Given the description of an element on the screen output the (x, y) to click on. 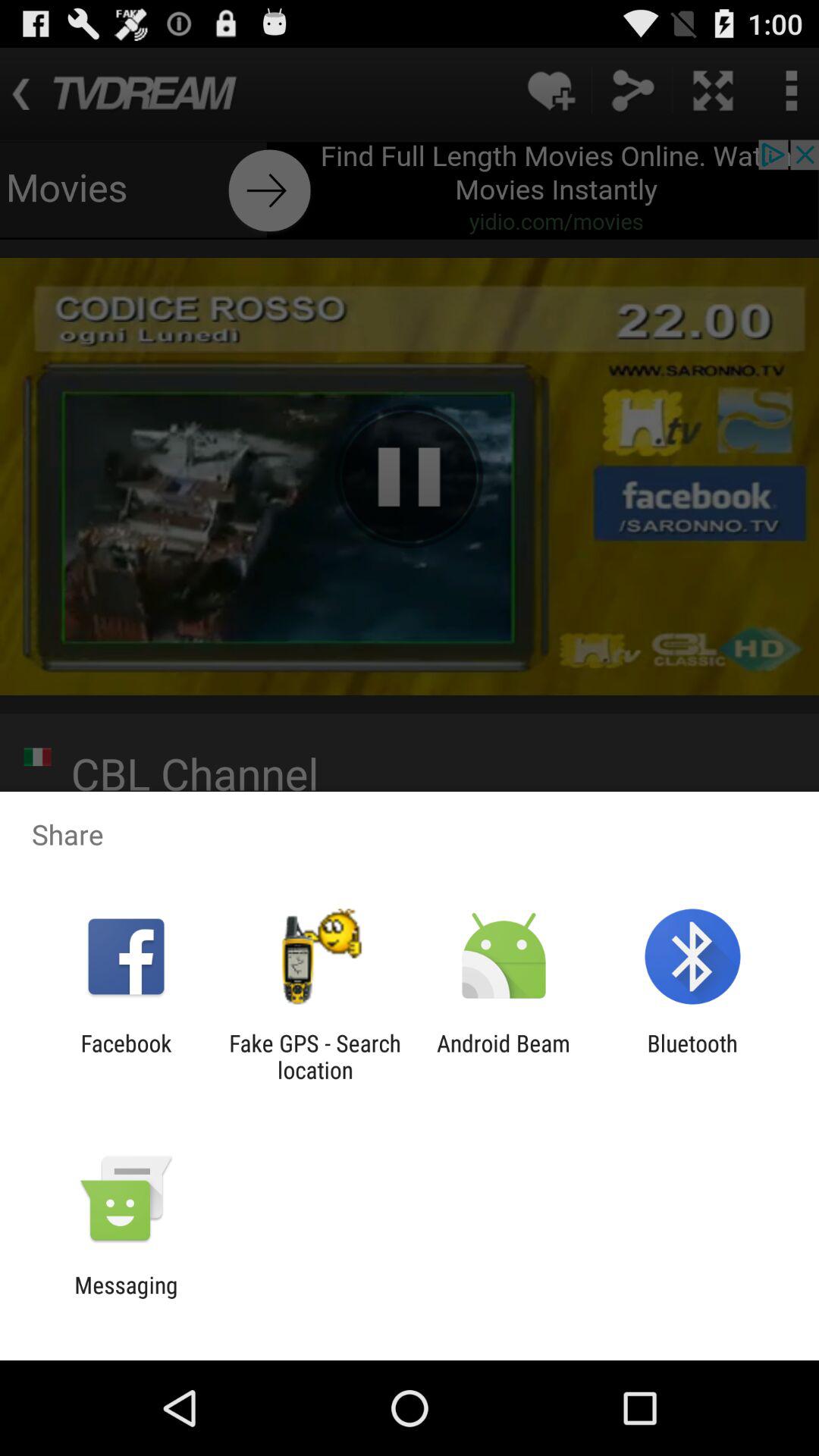
select android beam (503, 1056)
